Given the description of an element on the screen output the (x, y) to click on. 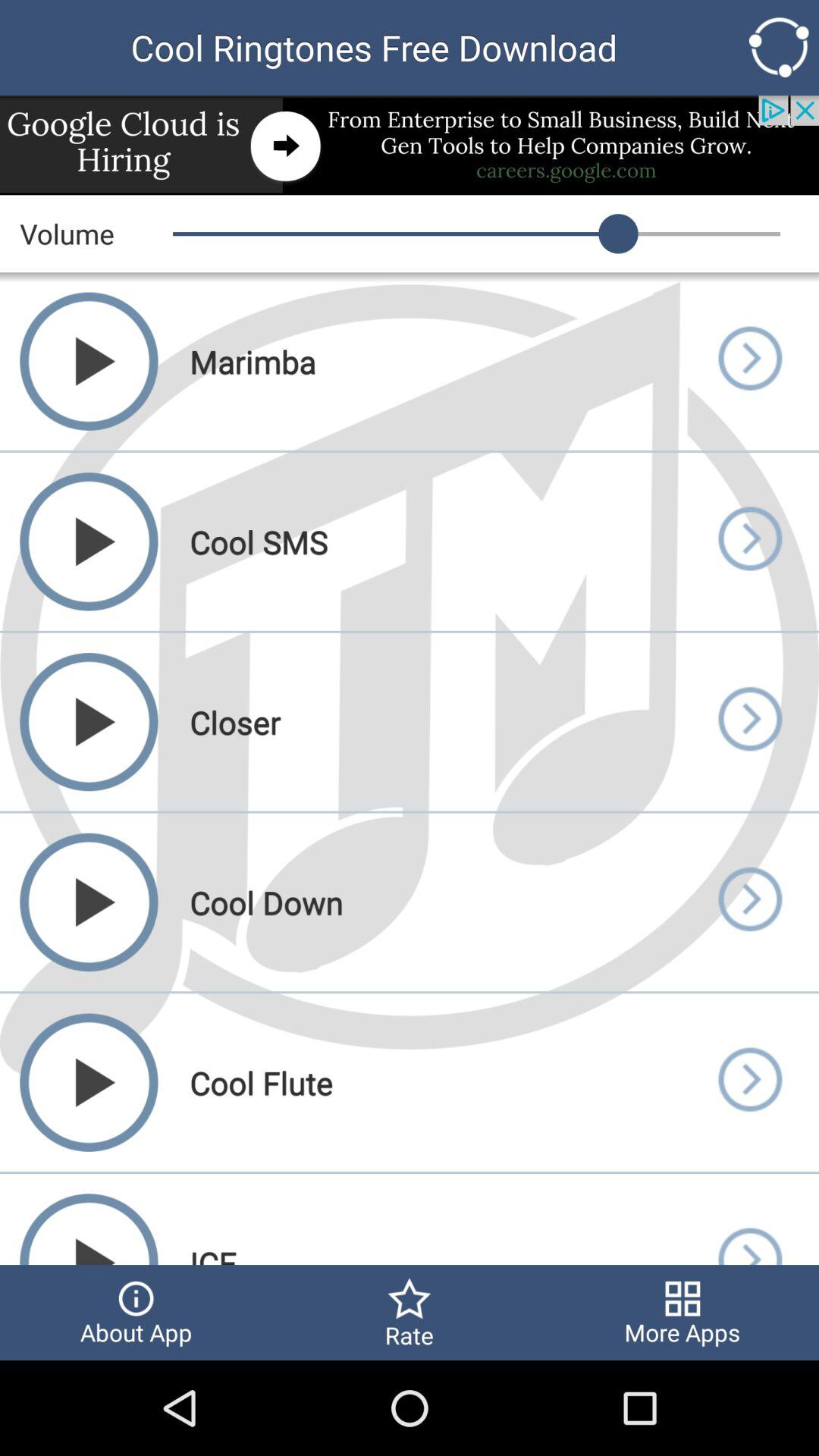
change ringtone (749, 1082)
